Given the description of an element on the screen output the (x, y) to click on. 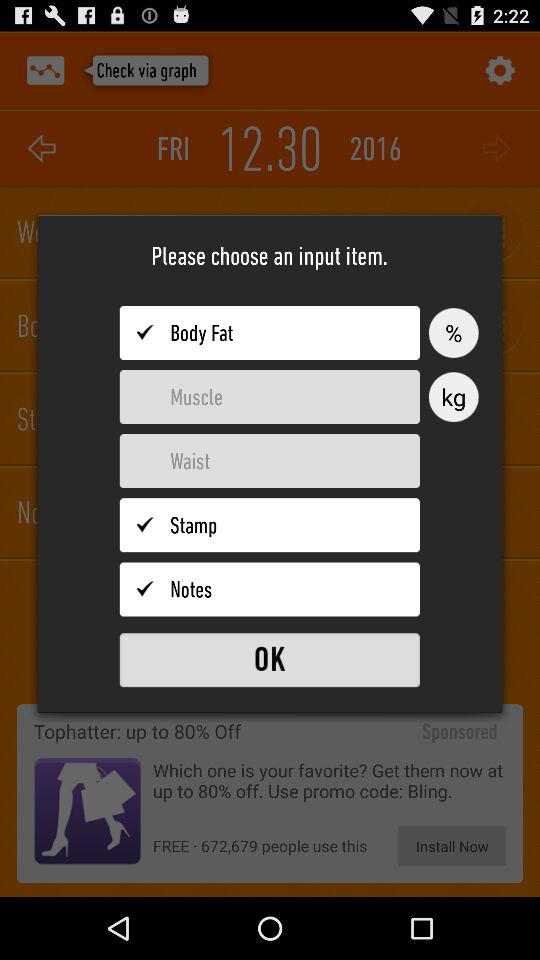
enter waist size (269, 461)
